Given the description of an element on the screen output the (x, y) to click on. 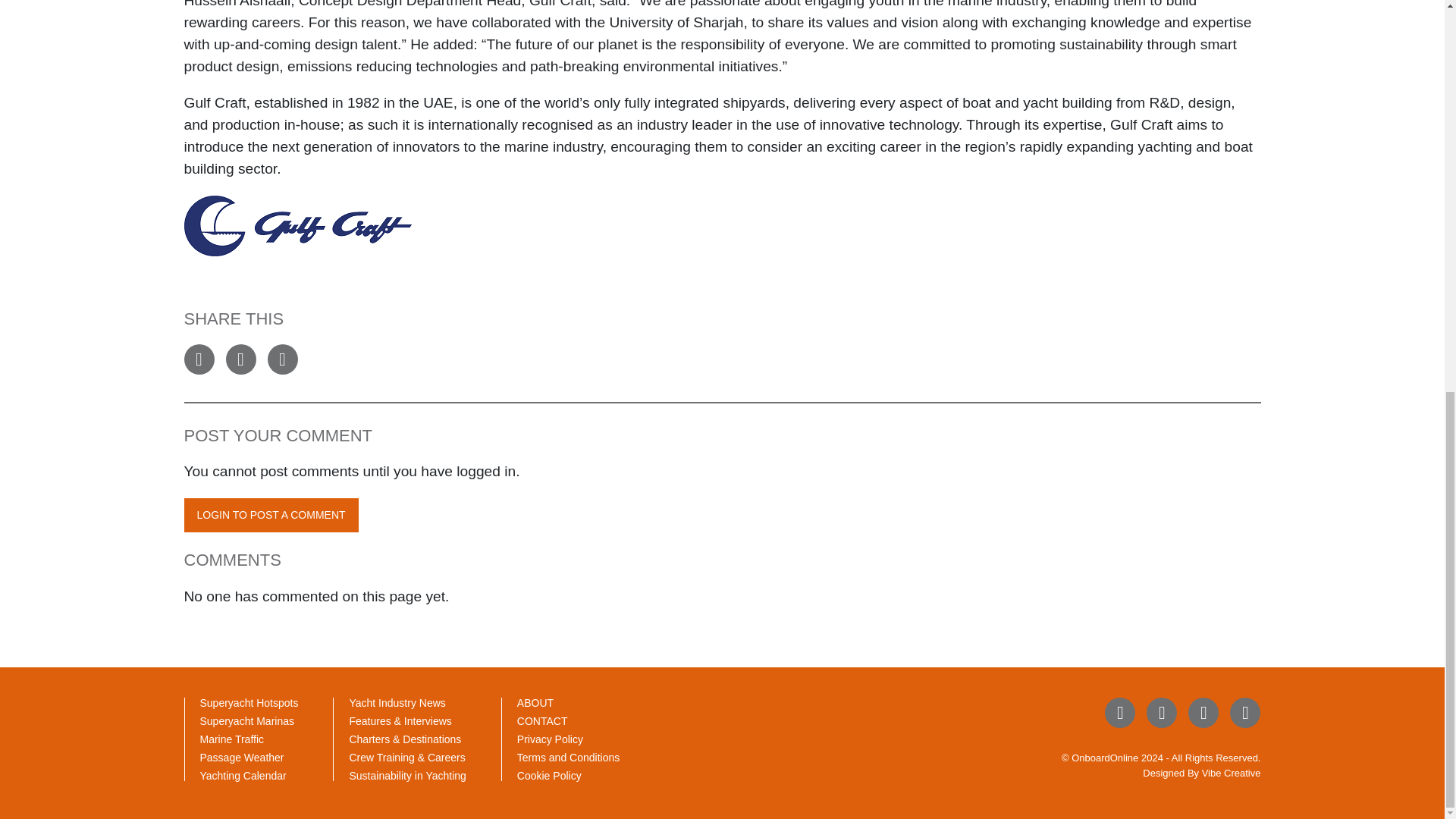
Sustainability in Yachting (407, 775)
Superyacht Hotspots (249, 702)
Yachting Calendar (243, 775)
Login to post a comment (270, 514)
Superyacht Hotspots (249, 702)
Yacht Industry News (397, 702)
Superyacht Marinas (247, 720)
more info... (296, 224)
LOGIN TO POST A COMMENT (270, 514)
Share on LinkedIn (281, 358)
